Given the description of an element on the screen output the (x, y) to click on. 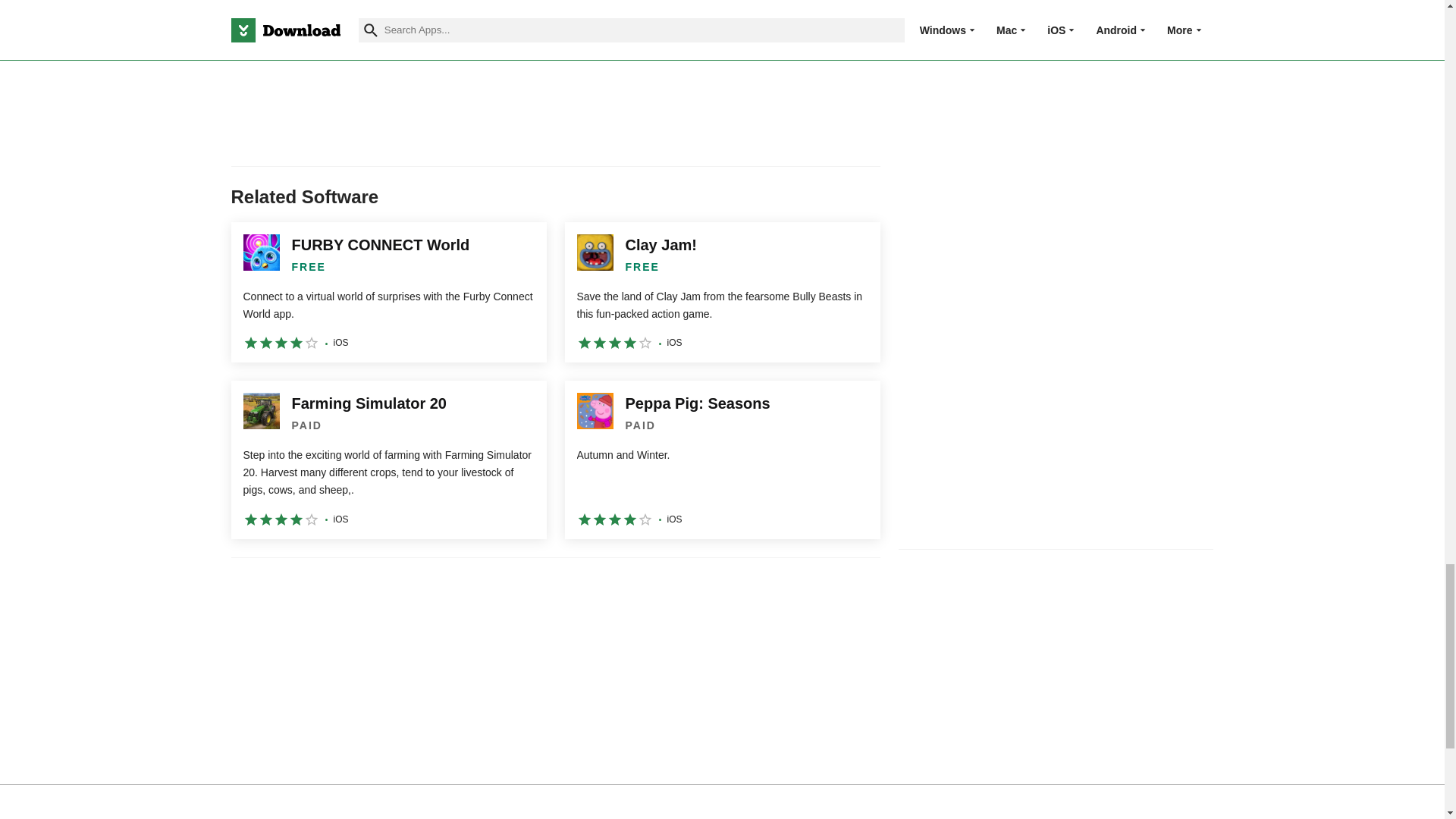
FURBY CONNECT World (388, 291)
Clay Jam! (721, 291)
Peppa Pig: Seasons (721, 459)
Farming Simulator 20 (388, 459)
